Given the description of an element on the screen output the (x, y) to click on. 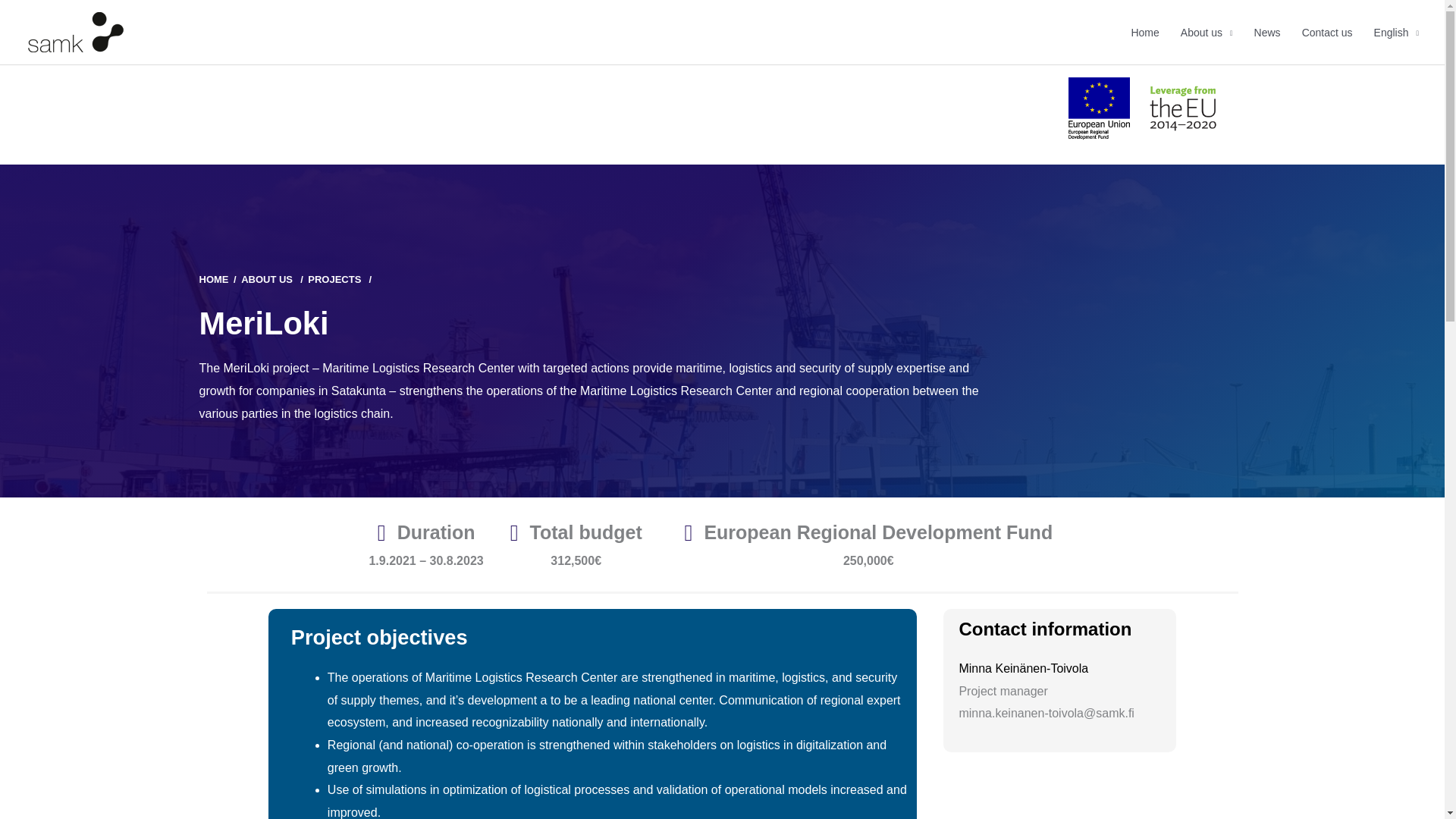
Contact us (1326, 32)
HOME (213, 279)
PROJECTS (334, 279)
About us (1206, 32)
ABOUT US (266, 279)
English (1395, 32)
News (1267, 32)
Projects (334, 279)
Home (1144, 32)
EU EAKR EN 150 (1098, 106)
LeverageEU 2014 2020 150 (1181, 115)
About us (266, 279)
